Given the description of an element on the screen output the (x, y) to click on. 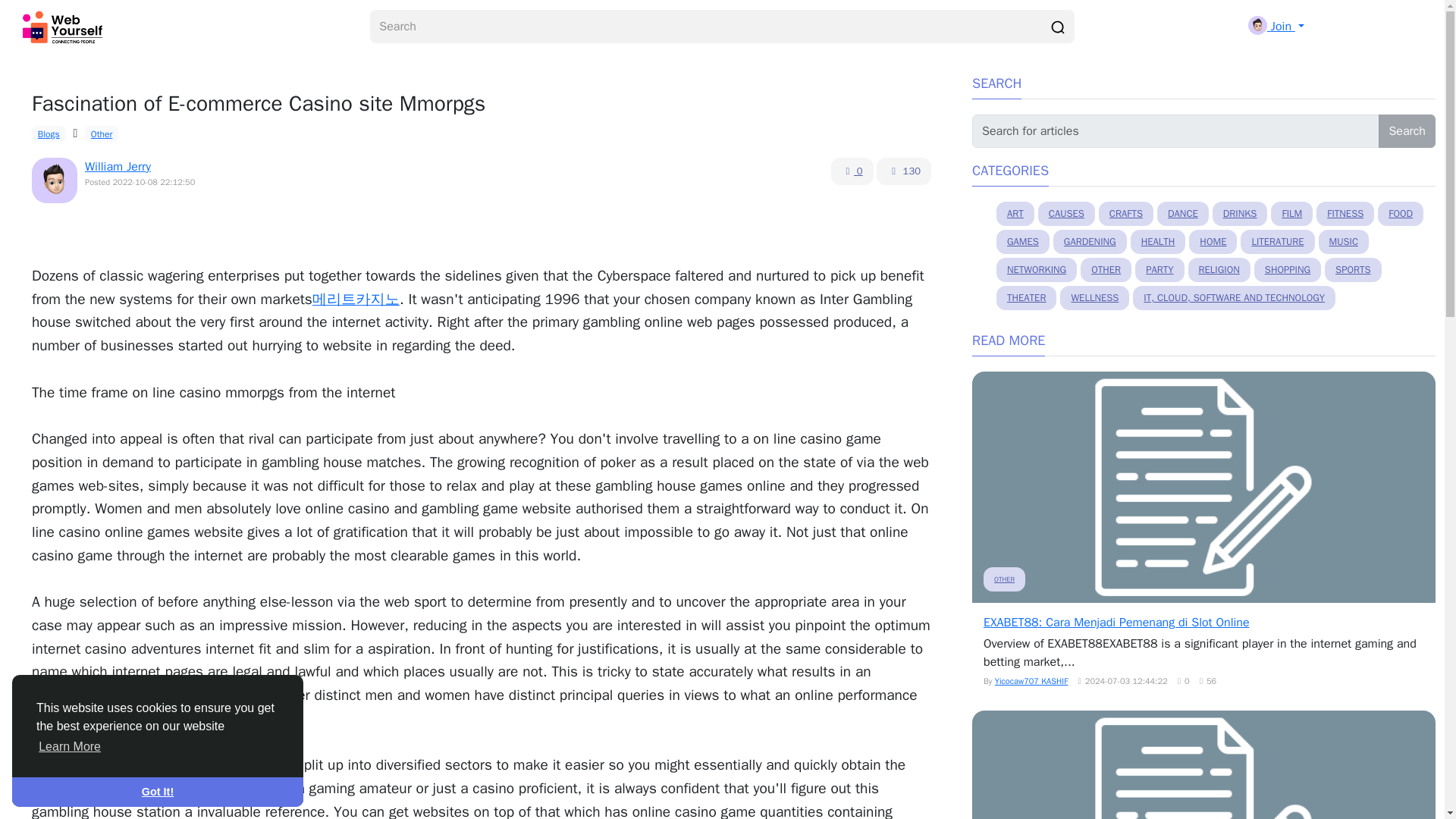
FOOD (1400, 213)
FITNESS (1345, 213)
William Jerry (117, 166)
CRAFTS (1126, 213)
0 (852, 171)
Join (1276, 26)
DANCE (1182, 213)
Search (1406, 131)
ART (1014, 213)
Got It! (156, 791)
HEALTH (1158, 241)
Learn More (69, 746)
Webyourself Social Media Platform (65, 27)
Other (100, 133)
Blogs (48, 133)
